Given the description of an element on the screen output the (x, y) to click on. 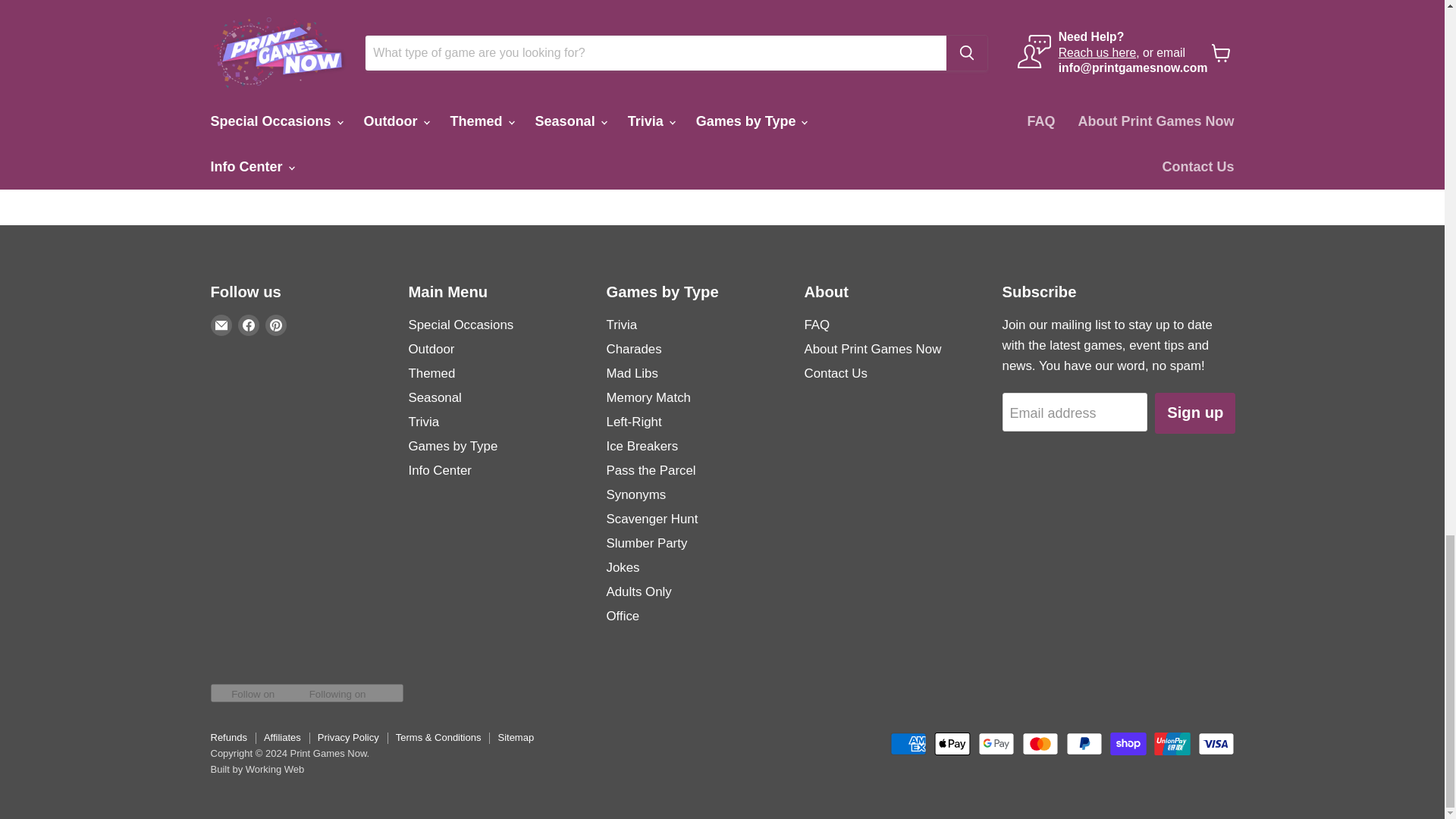
Email (221, 324)
Print Games Now (265, 48)
Print Games Now (473, 65)
Print Games Now (682, 65)
Print Games Now (889, 65)
Print Games Now (1097, 65)
Facebook (248, 324)
Pinterest (275, 324)
